Given the description of an element on the screen output the (x, y) to click on. 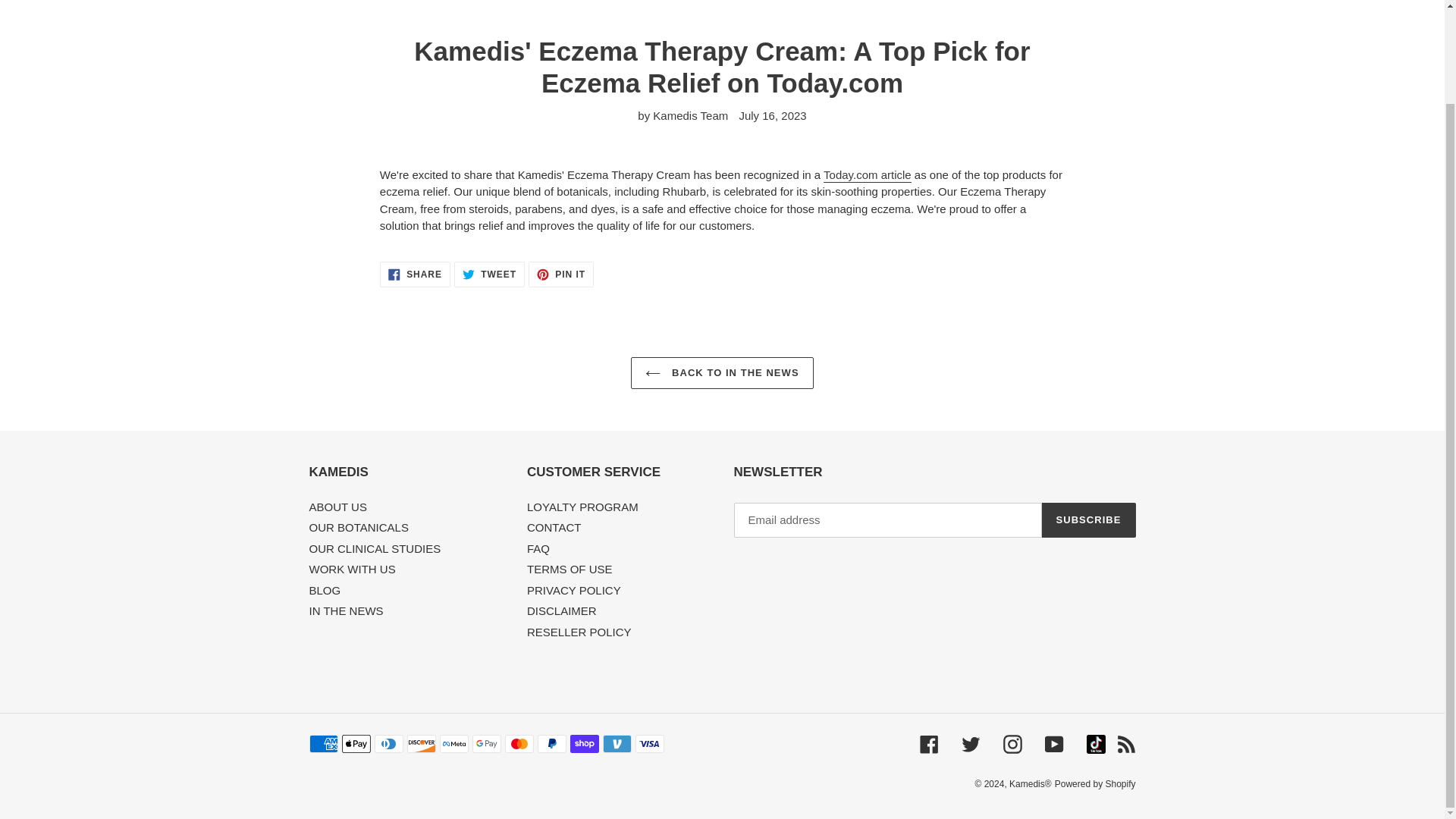
OUR CLINICAL STUDIES (374, 548)
BLOG (324, 590)
Today.com article (867, 175)
OUR BOTANICALS (489, 273)
BACK TO IN THE NEWS (358, 526)
ABOUT US (721, 373)
WORK WITH US (337, 506)
